Given the description of an element on the screen output the (x, y) to click on. 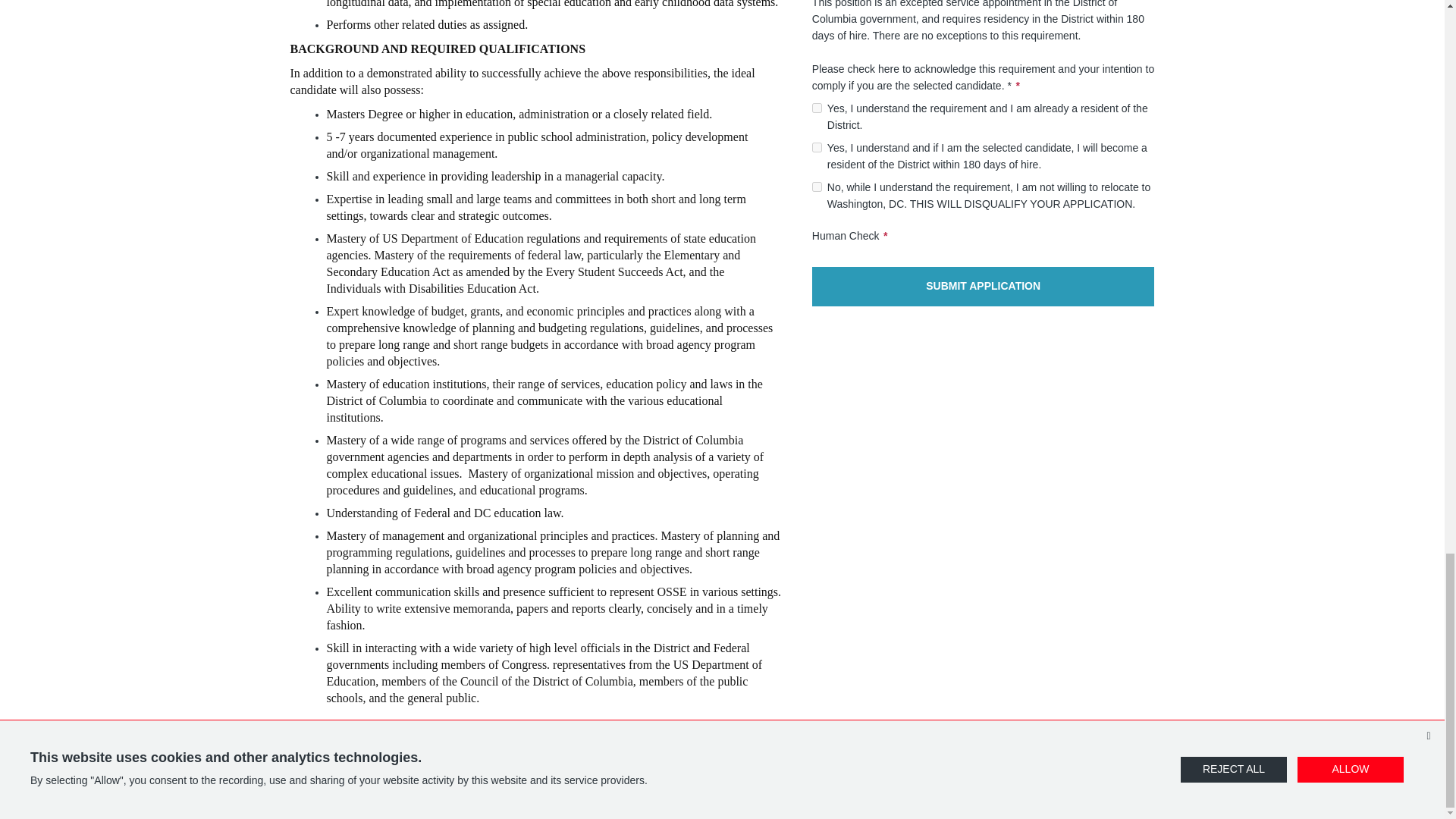
POWERED BY (721, 786)
SUBMIT APPLICATION (983, 286)
